Given the description of an element on the screen output the (x, y) to click on. 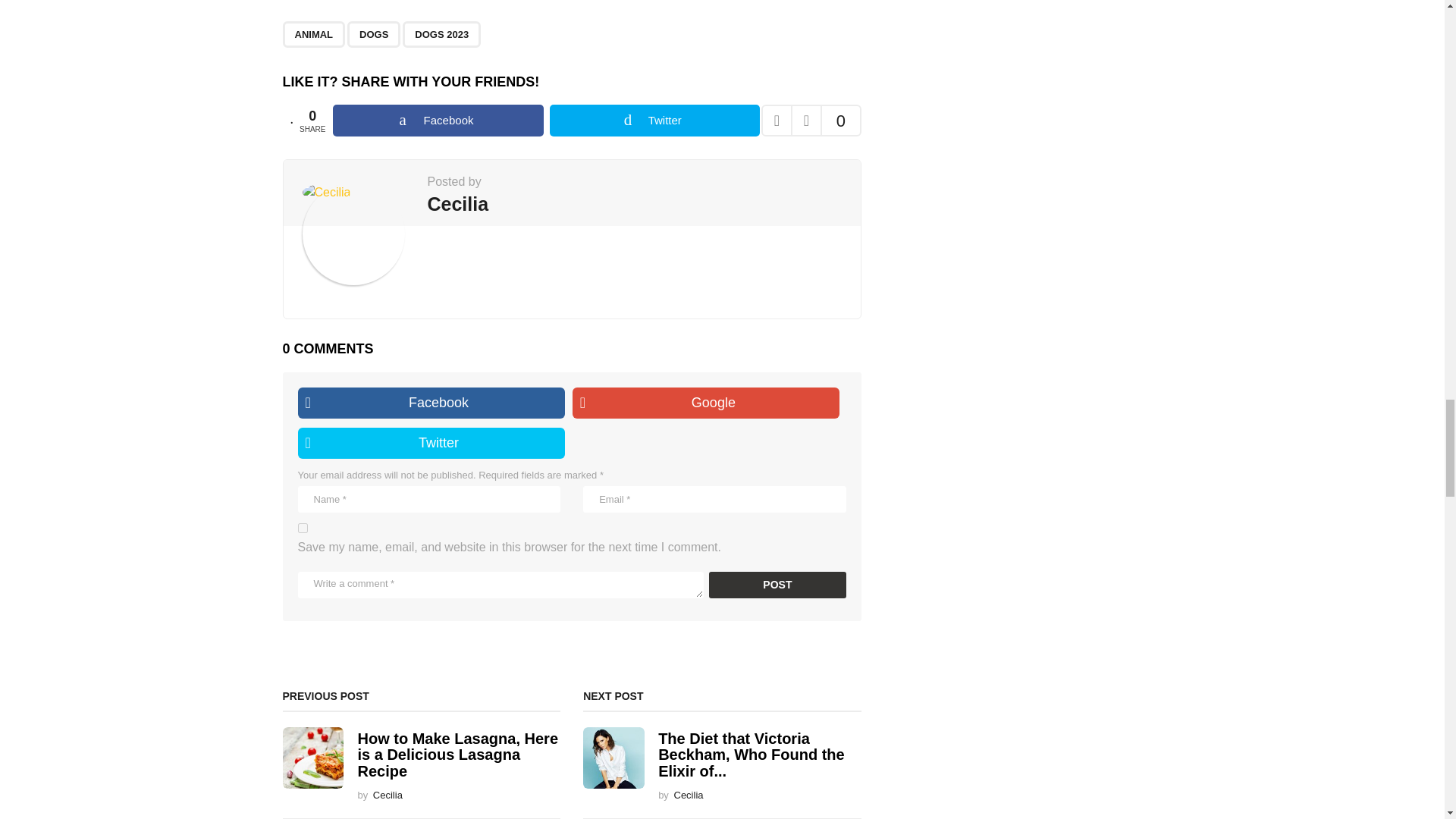
Share on Twitter (655, 120)
DOGS 2023 (441, 34)
Post (777, 584)
yes (302, 528)
DOGS (373, 34)
Share on Facebook (438, 120)
ANIMAL (313, 34)
